Given the description of an element on the screen output the (x, y) to click on. 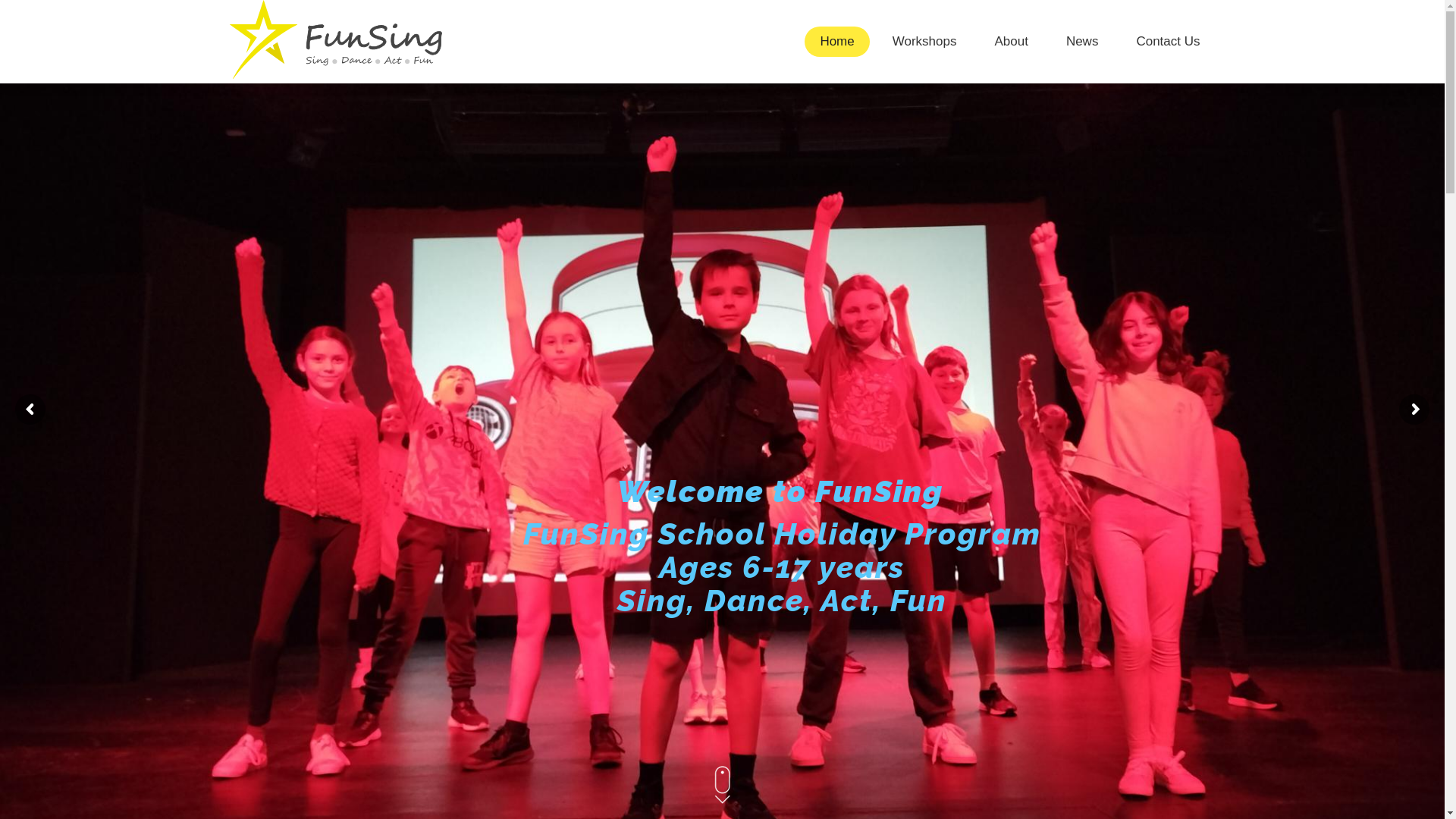
Home Element type: text (836, 41)
Contact Us Element type: text (1167, 41)
News Element type: text (1082, 41)
Workshops Element type: text (924, 41)
About Element type: text (1010, 41)
